Given the description of an element on the screen output the (x, y) to click on. 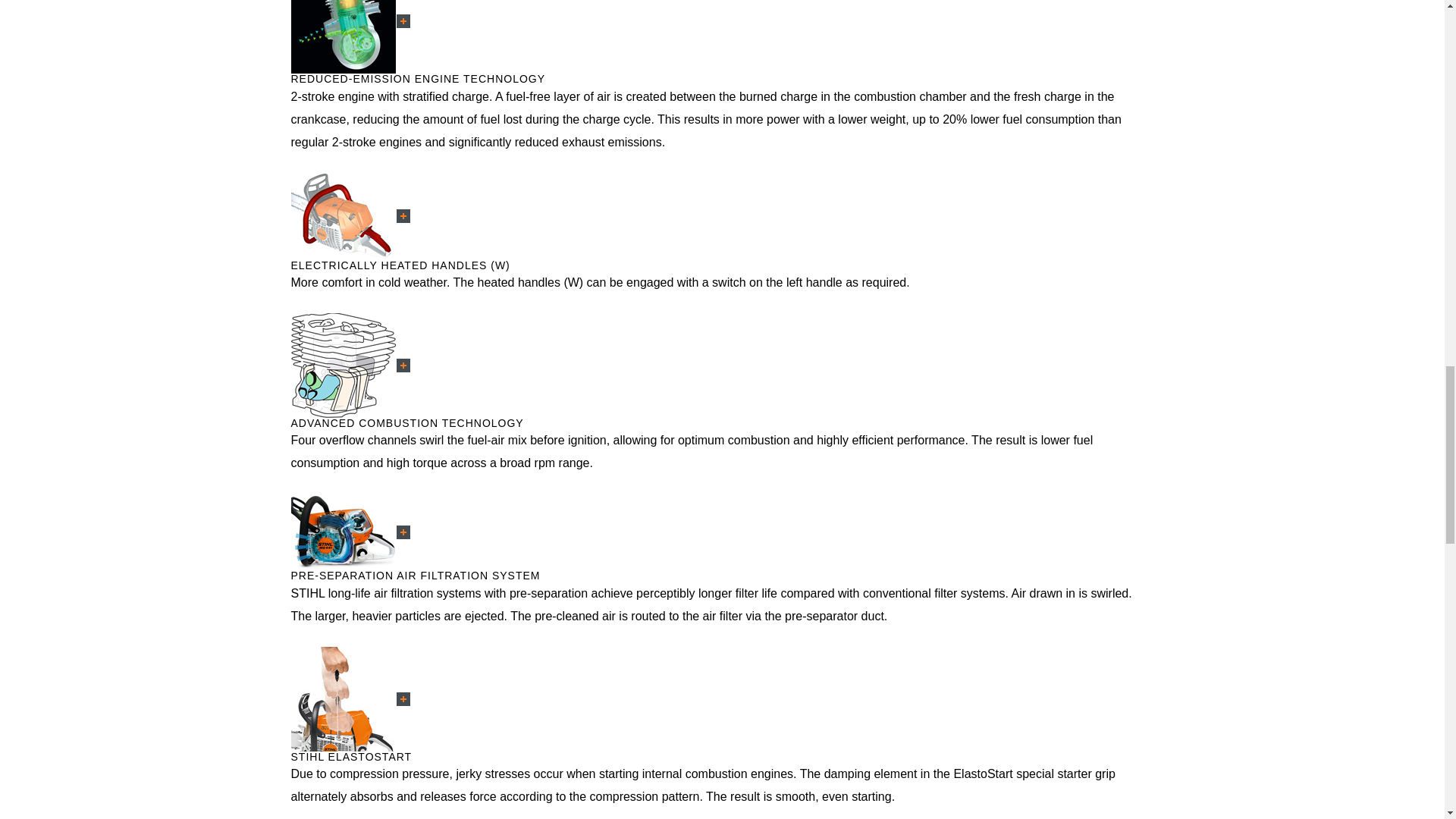
Pre-separation air filtration system (343, 531)
STIHL ElastoStart (343, 699)
Reduced-emission engine technology (343, 36)
Advanced combustion technology (343, 364)
